Given the description of an element on the screen output the (x, y) to click on. 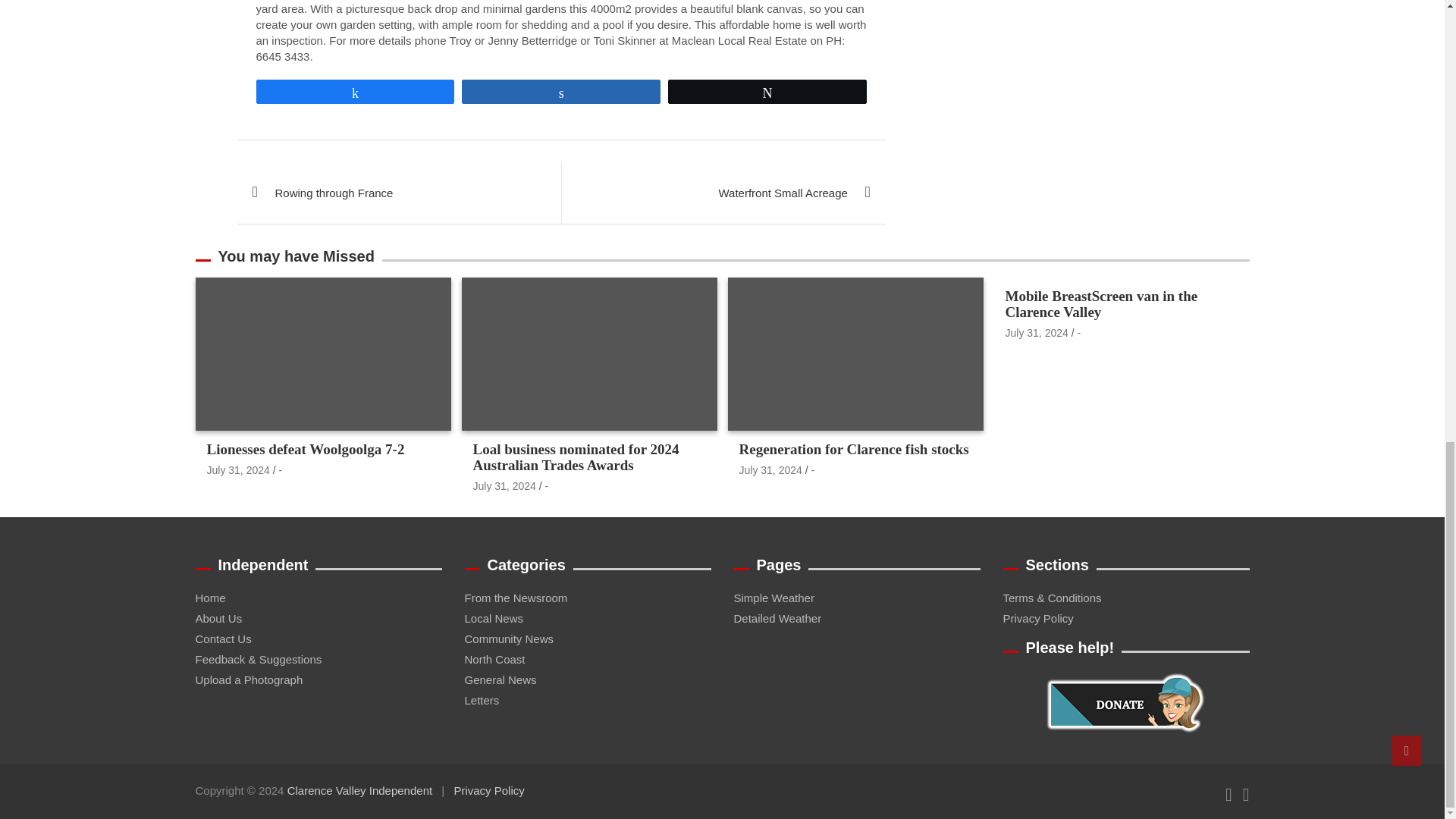
Regeneration for Clarence fish stocks (770, 469)
Mobile BreastScreen van in the Clarence Valley (1037, 332)
Loal business nominated for 2024 Australian Trades Awards (504, 485)
Clarence Valley Independent (359, 789)
Lionesses defeat Woolgoolga 7-2 (237, 469)
